Given the description of an element on the screen output the (x, y) to click on. 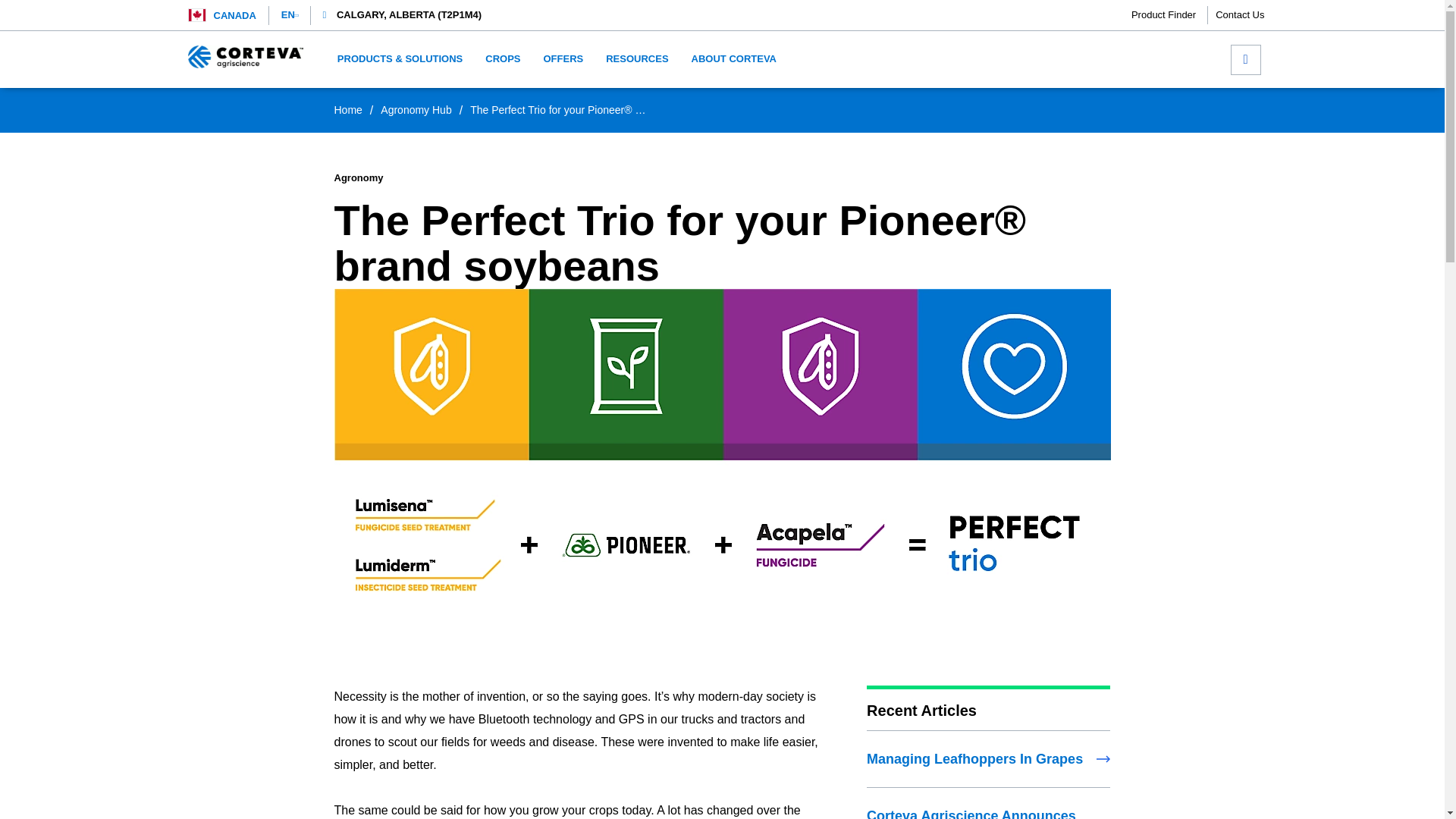
Contact Us (1239, 14)
Product Finder (1169, 14)
CROPS (501, 58)
CANADA (235, 15)
EN (289, 14)
